Given the description of an element on the screen output the (x, y) to click on. 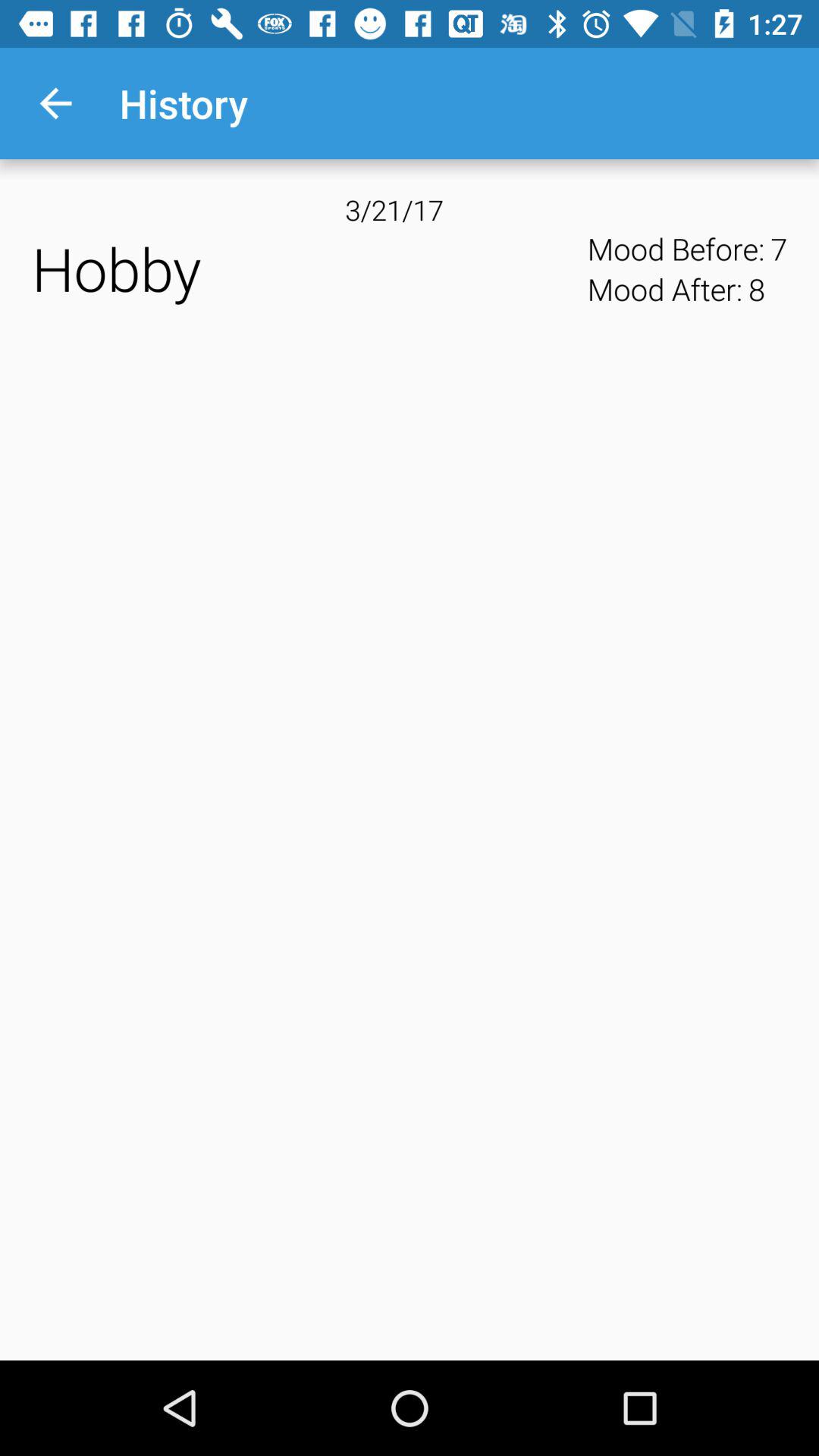
swipe to the 3/21/17 (409, 209)
